Given the description of an element on the screen output the (x, y) to click on. 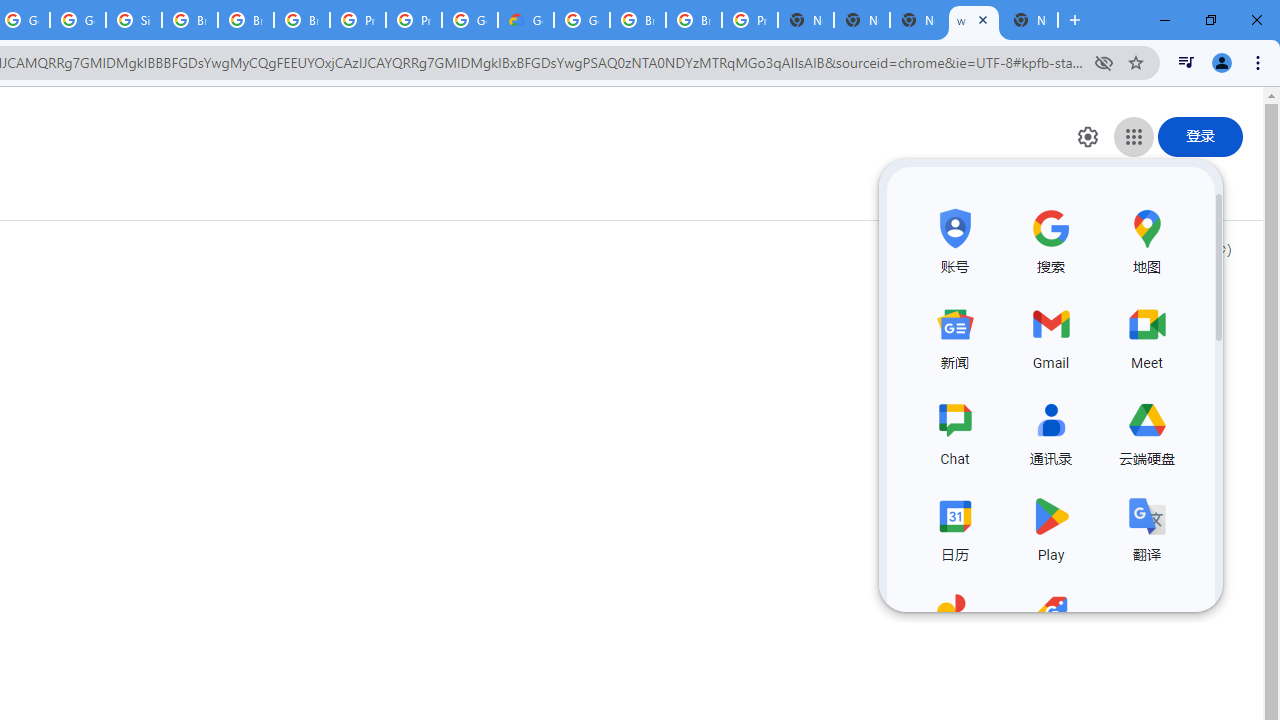
Browse Chrome as a guest - Computer - Google Chrome Help (693, 20)
New Tab (1030, 20)
Browse Chrome as a guest - Computer - Google Chrome Help (301, 20)
Browse Chrome as a guest - Computer - Google Chrome Help (189, 20)
Google Cloud Platform (582, 20)
